Given the description of an element on the screen output the (x, y) to click on. 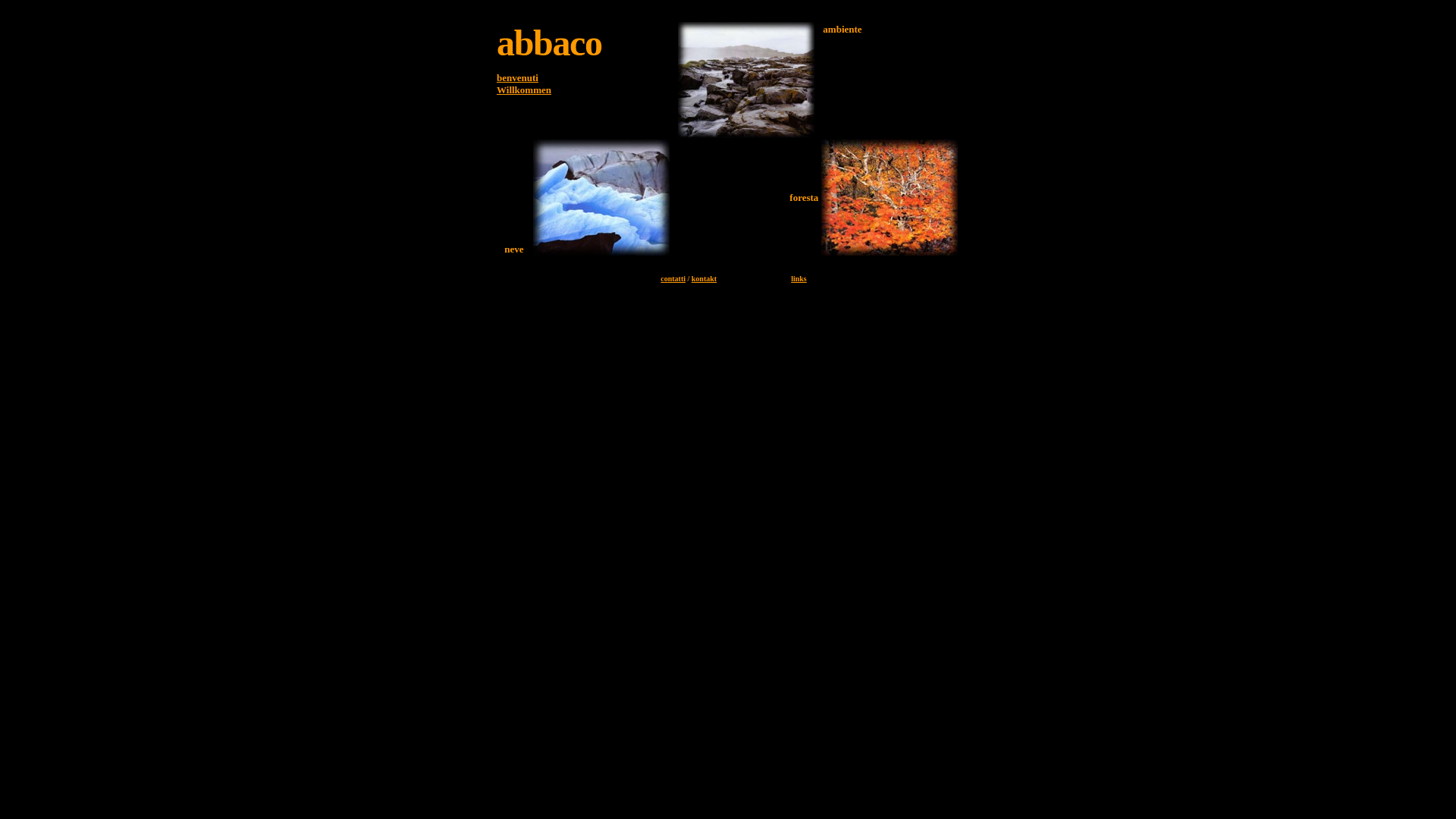
benvenuti Element type: text (517, 77)
links Element type: text (798, 276)
kontakt Element type: text (703, 278)
Willkommen Element type: text (523, 95)
contatti Element type: text (672, 278)
